Given the description of an element on the screen output the (x, y) to click on. 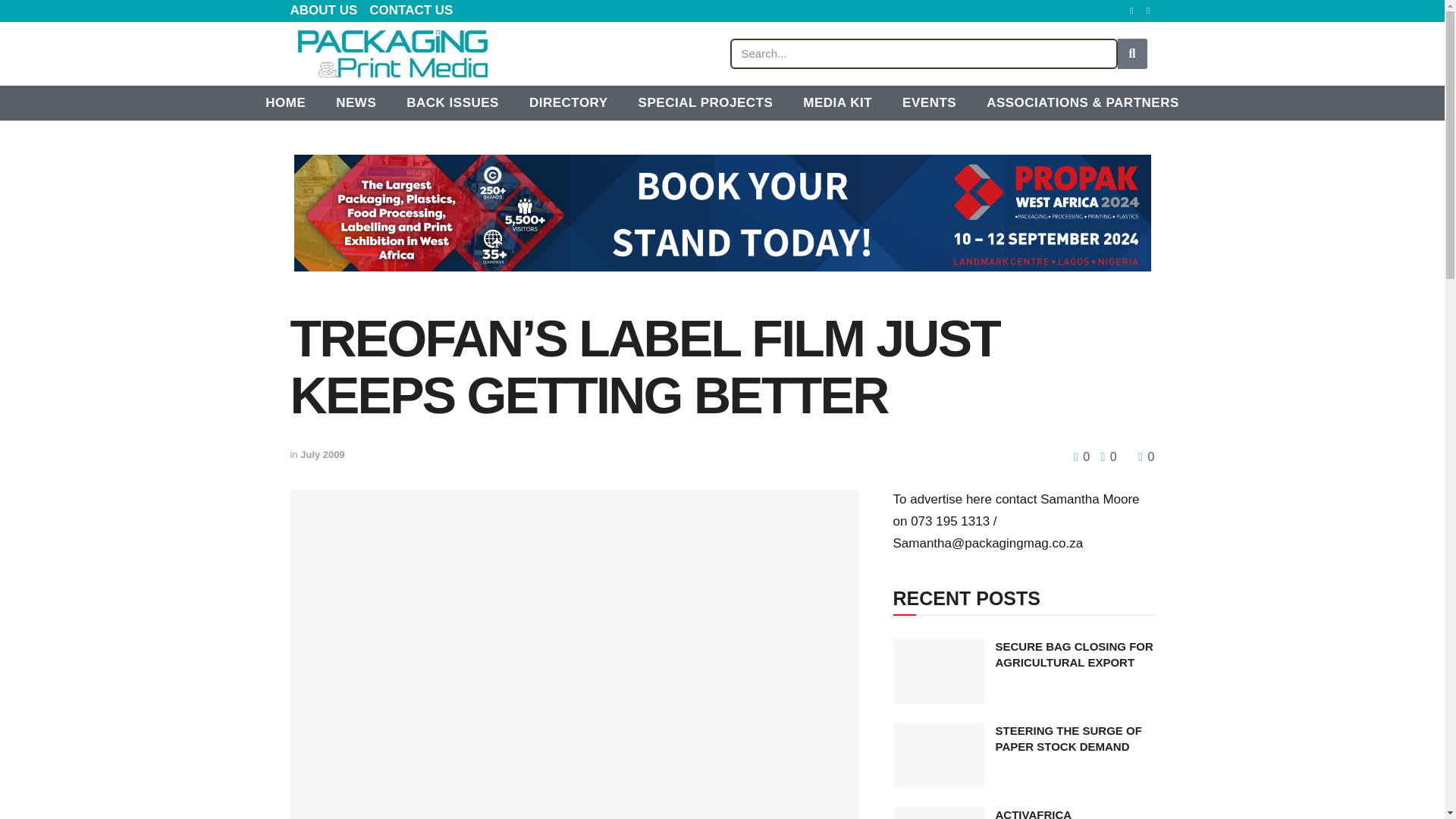
CONTACT US (410, 11)
July 2009 (322, 454)
BACK ISSUES (452, 102)
MEDIA KIT (836, 102)
0 (1146, 456)
EVENTS (928, 102)
SPECIAL PROJECTS (706, 102)
0 (1083, 456)
DIRECTORY (568, 102)
0 (1104, 456)
NEWS (355, 102)
ABOUT US (322, 11)
HOME (285, 102)
